Given the description of an element on the screen output the (x, y) to click on. 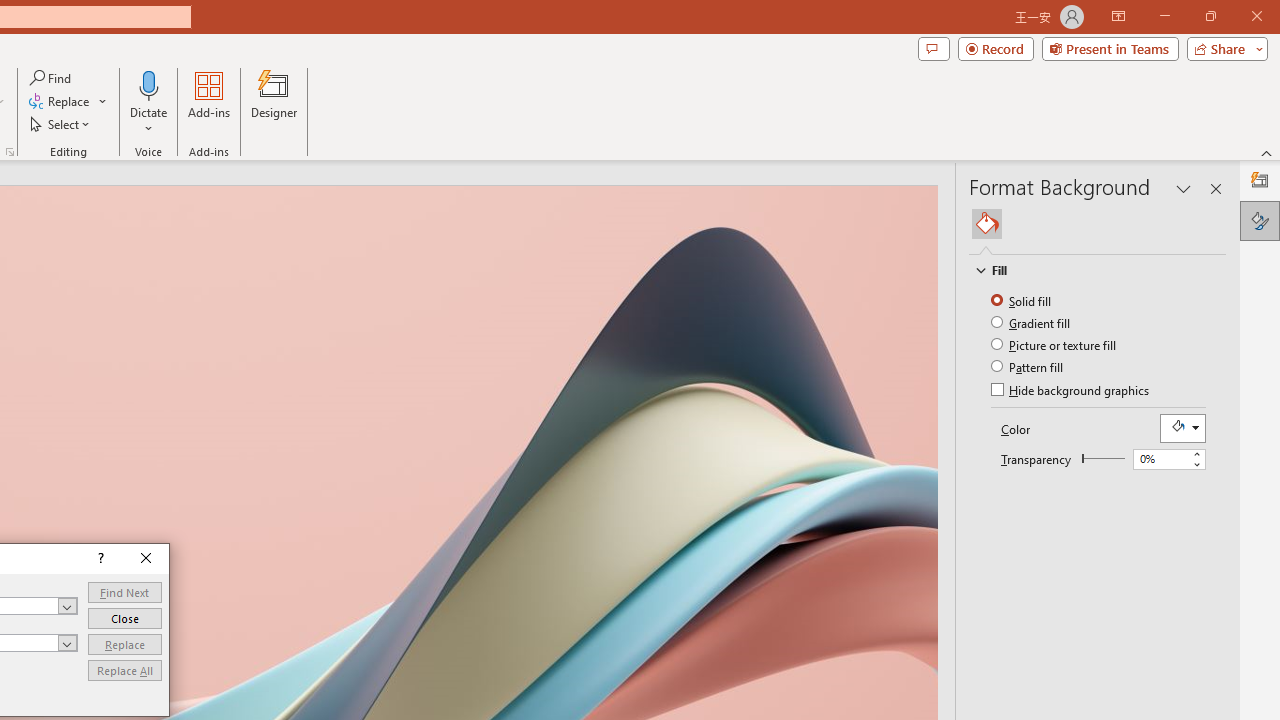
Fill (987, 223)
Transparency (1168, 459)
Gradient fill (1031, 322)
Context help (98, 558)
Transparency (1160, 459)
